Given the description of an element on the screen output the (x, y) to click on. 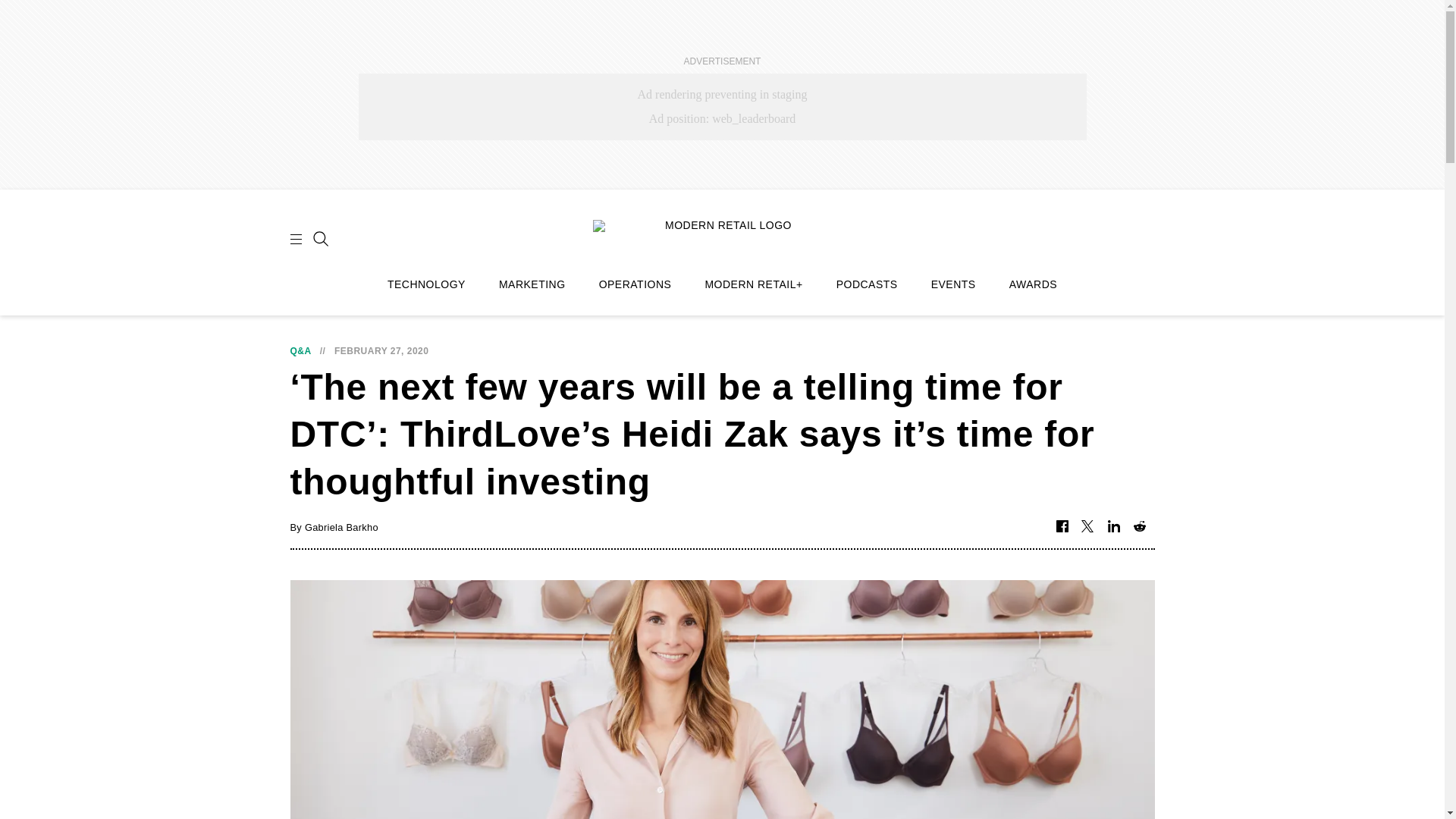
OPERATIONS (634, 284)
Modern Retail home (722, 236)
Share on Reddit (1139, 526)
MARKETING (532, 284)
PODCASTS (866, 284)
TECHNOLOGY (426, 284)
Share on LinkedIn (1113, 526)
Share on Twitter (1087, 526)
Share on Facebook (1061, 526)
EVENTS (953, 284)
AWARDS (1033, 284)
